Given the description of an element on the screen output the (x, y) to click on. 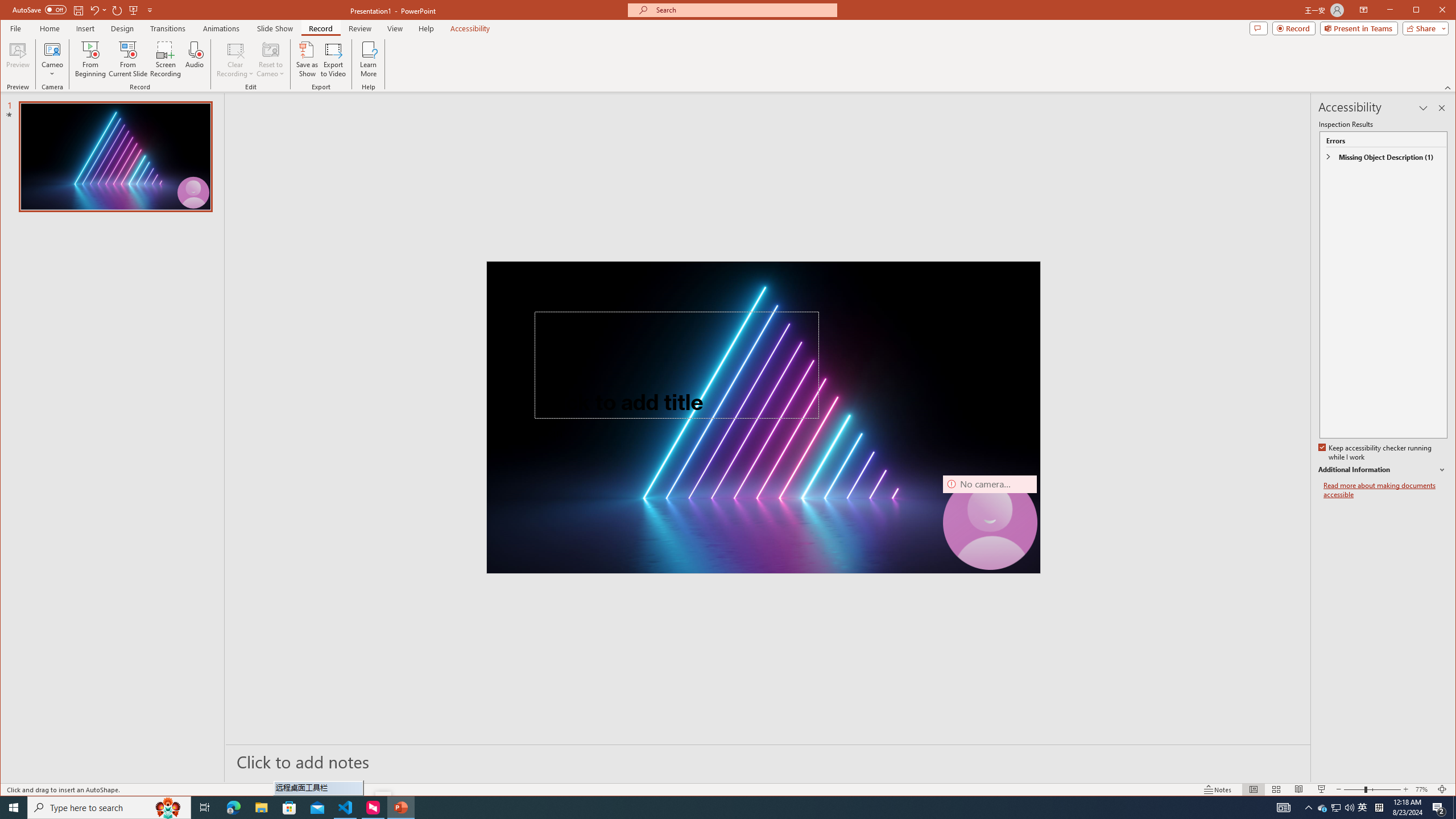
Title TextBox (676, 365)
Keep accessibility checker running while I work (1375, 452)
PowerPoint - 1 running window (400, 807)
Export to Video (333, 59)
